Given the description of an element on the screen output the (x, y) to click on. 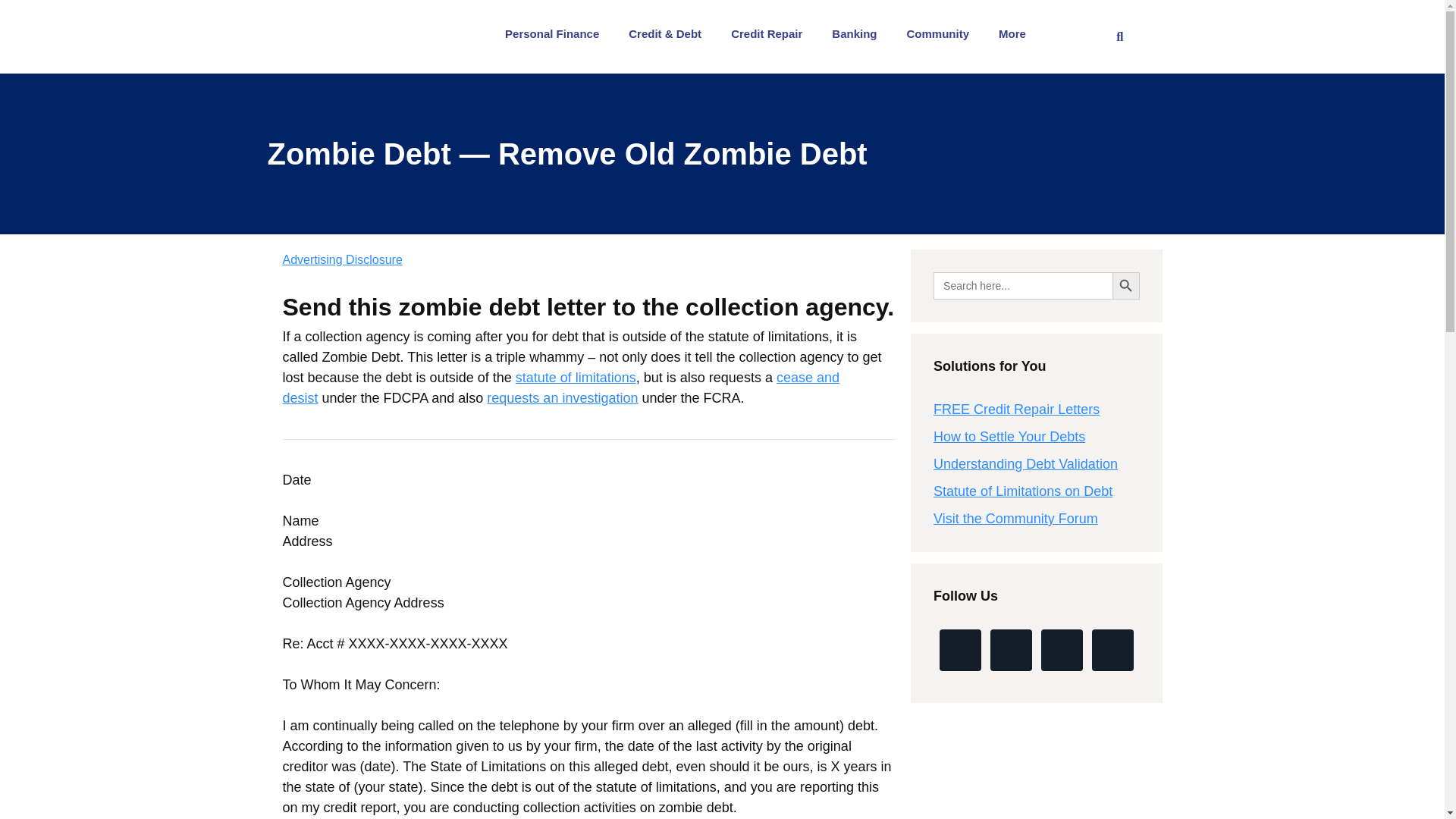
Credit Repair (770, 33)
Personal Finance (555, 33)
Banking (858, 33)
